Given the description of an element on the screen output the (x, y) to click on. 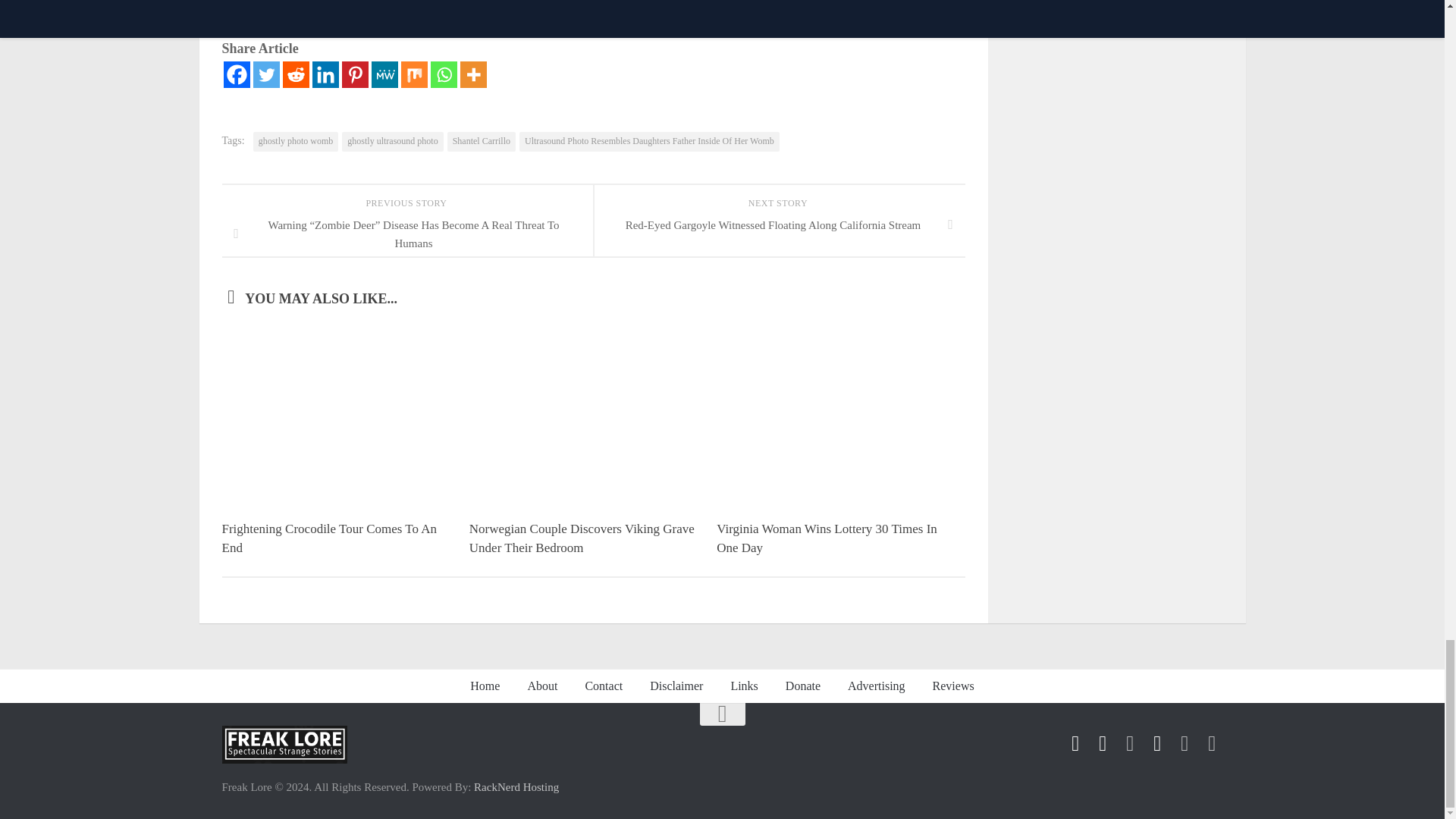
Twitter (266, 74)
Reddit (295, 74)
Linkedin (326, 74)
Facebook (235, 74)
